Given the description of an element on the screen output the (x, y) to click on. 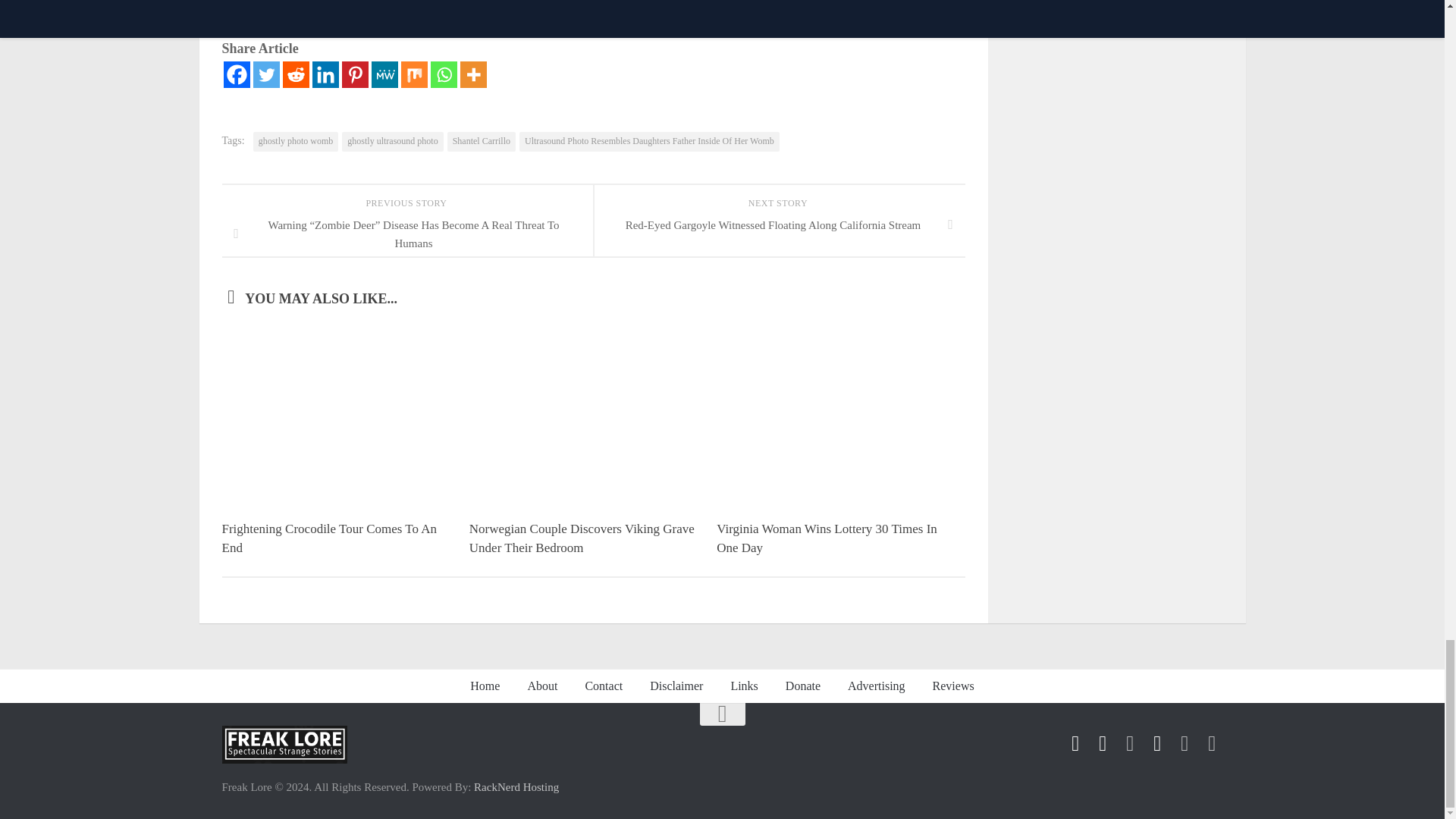
Twitter (266, 74)
Reddit (295, 74)
Linkedin (326, 74)
Facebook (235, 74)
